Given the description of an element on the screen output the (x, y) to click on. 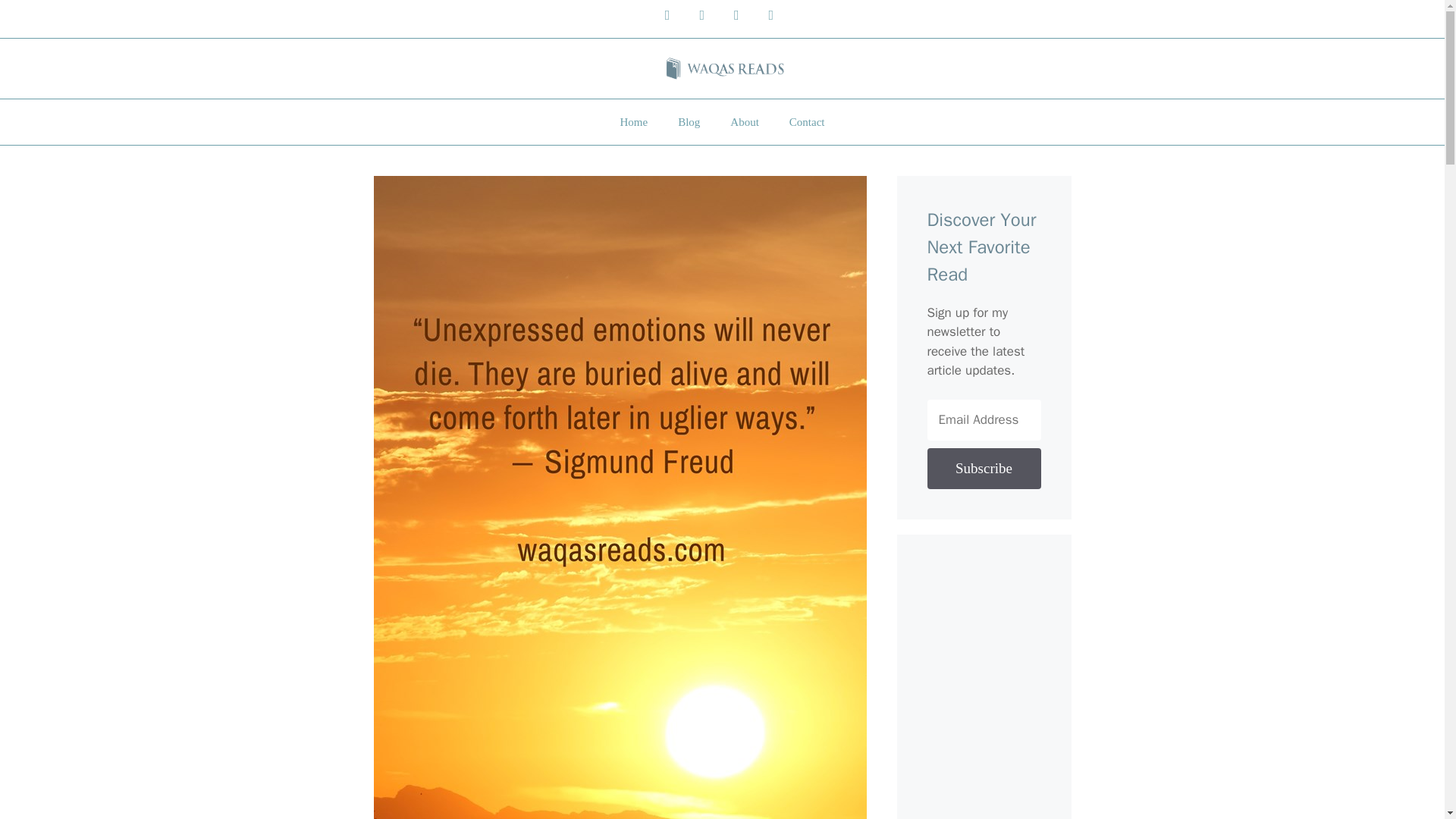
Instagram (701, 15)
Twitter (736, 15)
Pinterest (771, 15)
Blog (688, 121)
About (744, 121)
Subscribe (983, 467)
Contact (807, 121)
Subscribe (983, 467)
YouTube (666, 15)
Home (633, 121)
